Given the description of an element on the screen output the (x, y) to click on. 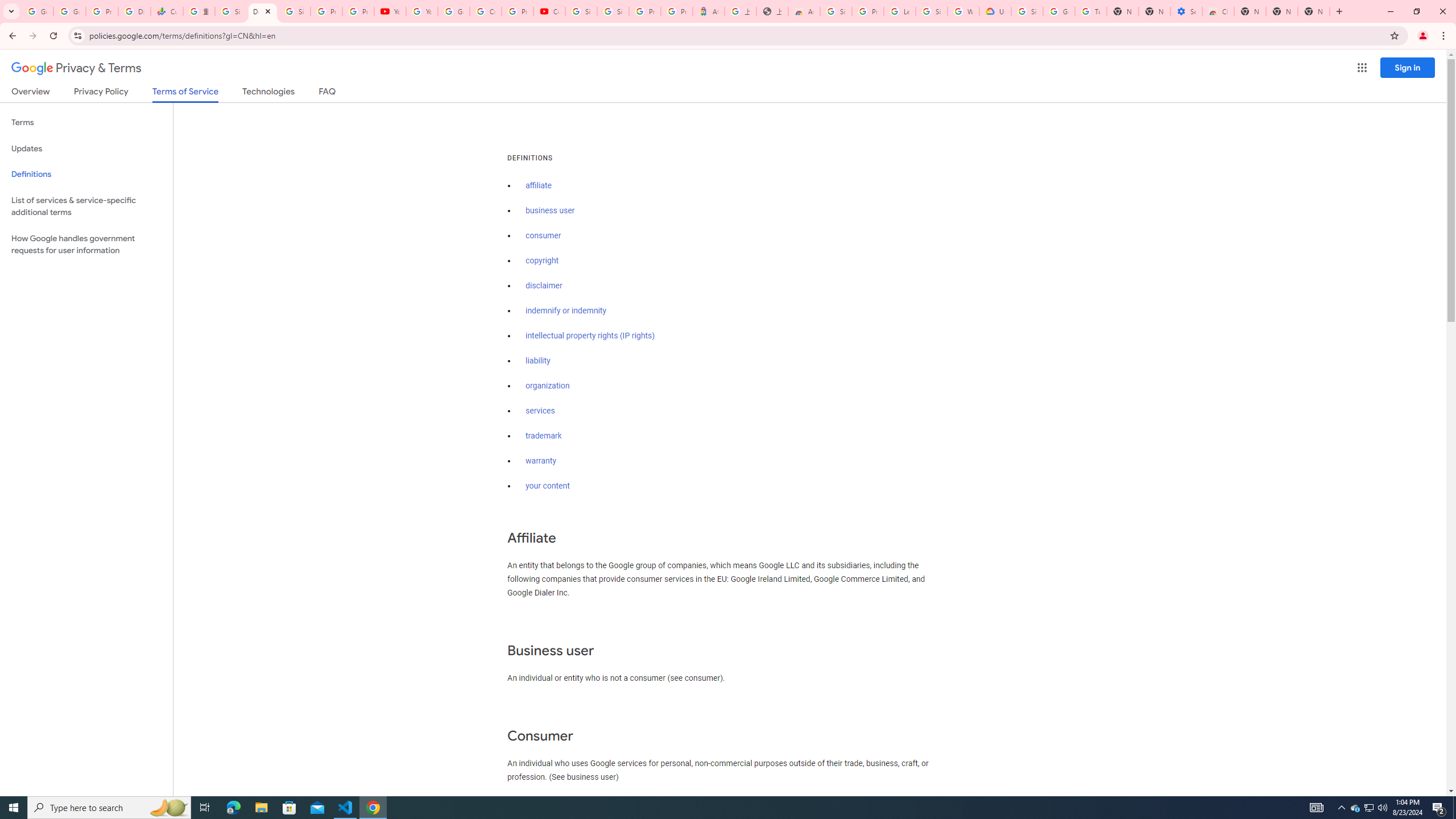
Sign in - Google Accounts (581, 11)
liability (537, 361)
Sign in - Google Accounts (613, 11)
Sign in - Google Accounts (836, 11)
Google Workspace Admin Community (37, 11)
Updates (86, 148)
indemnify or indemnity (565, 311)
